Given the description of an element on the screen output the (x, y) to click on. 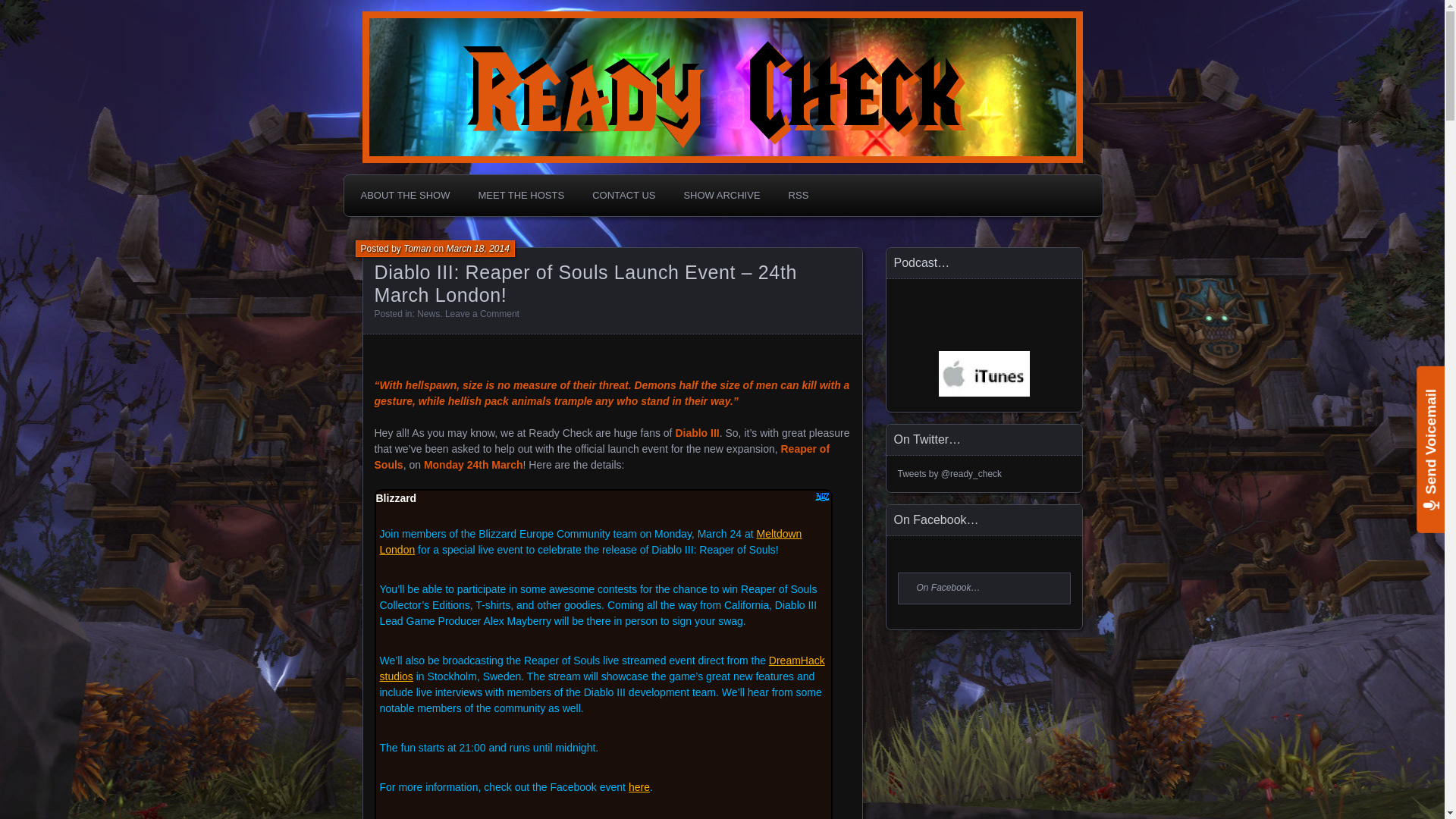
Meltdown London (590, 541)
News (427, 313)
CONTACT US (623, 195)
here (638, 787)
The podcast where we're the noobs so you don't have to be... (537, 20)
RSS (799, 195)
ABOUT THE SHOW (405, 195)
March 18, 2014 (476, 248)
Toman (416, 248)
MEET THE HOSTS (520, 195)
